Given the description of an element on the screen output the (x, y) to click on. 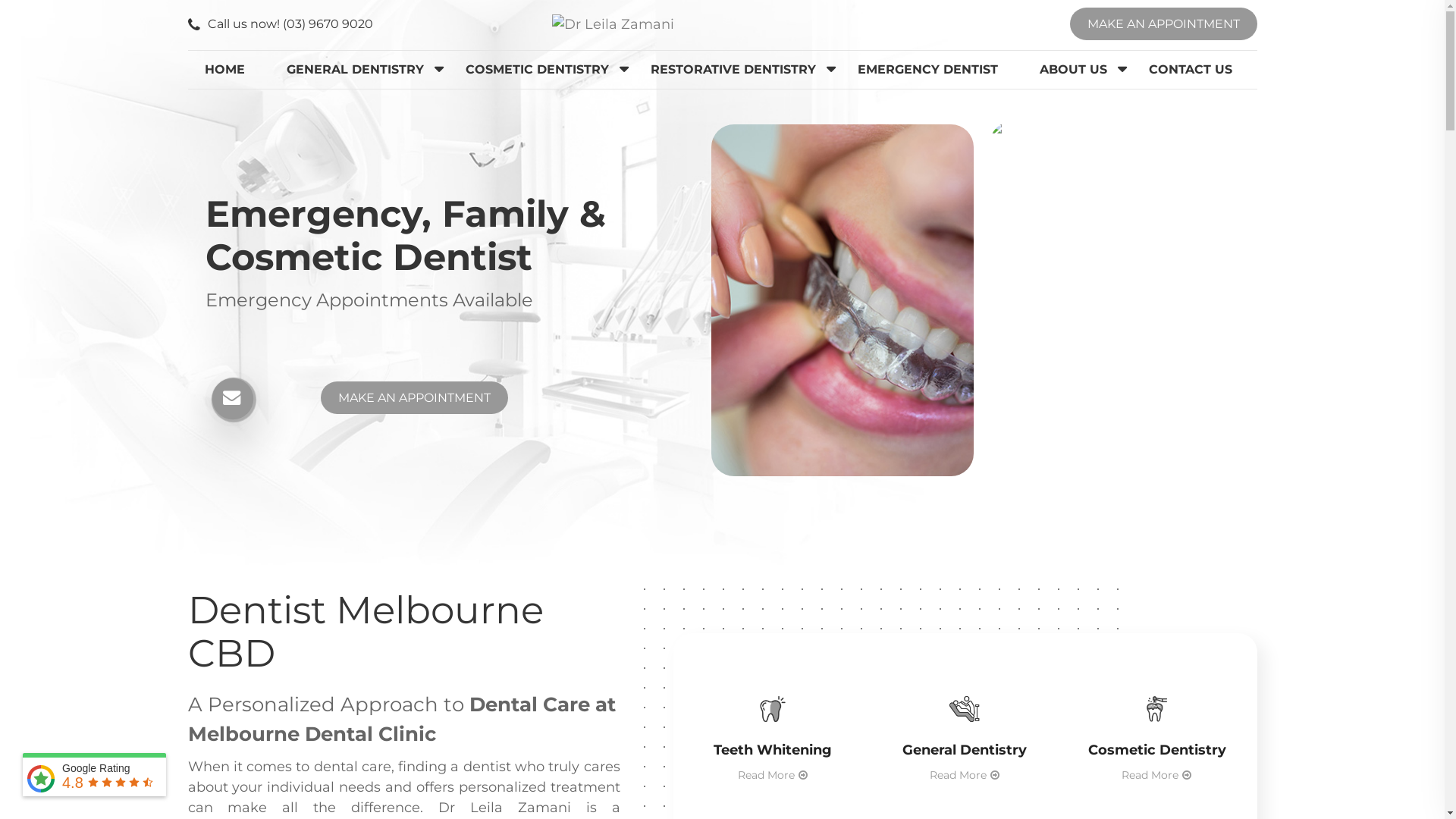
Read More Element type: text (1156, 775)
COSMETIC DENTISTRY Element type: text (536, 69)
Search Element type: text (17, 15)
Call us now! (03) 9670 9020 Element type: text (280, 23)
Read More Element type: text (964, 775)
RESTORATIVE DENTISTRY Element type: text (732, 69)
CONTACT US Element type: text (1190, 69)
ABOUT US Element type: text (1073, 69)
MAKE AN APPOINTMENT Element type: text (413, 397)
EMERGENCY DENTIST Element type: text (927, 69)
GENERAL DENTISTRY Element type: text (354, 69)
Read More Element type: text (772, 775)
HOME Element type: text (224, 69)
MAKE AN APPOINTMENT Element type: text (1162, 23)
